Given the description of an element on the screen output the (x, y) to click on. 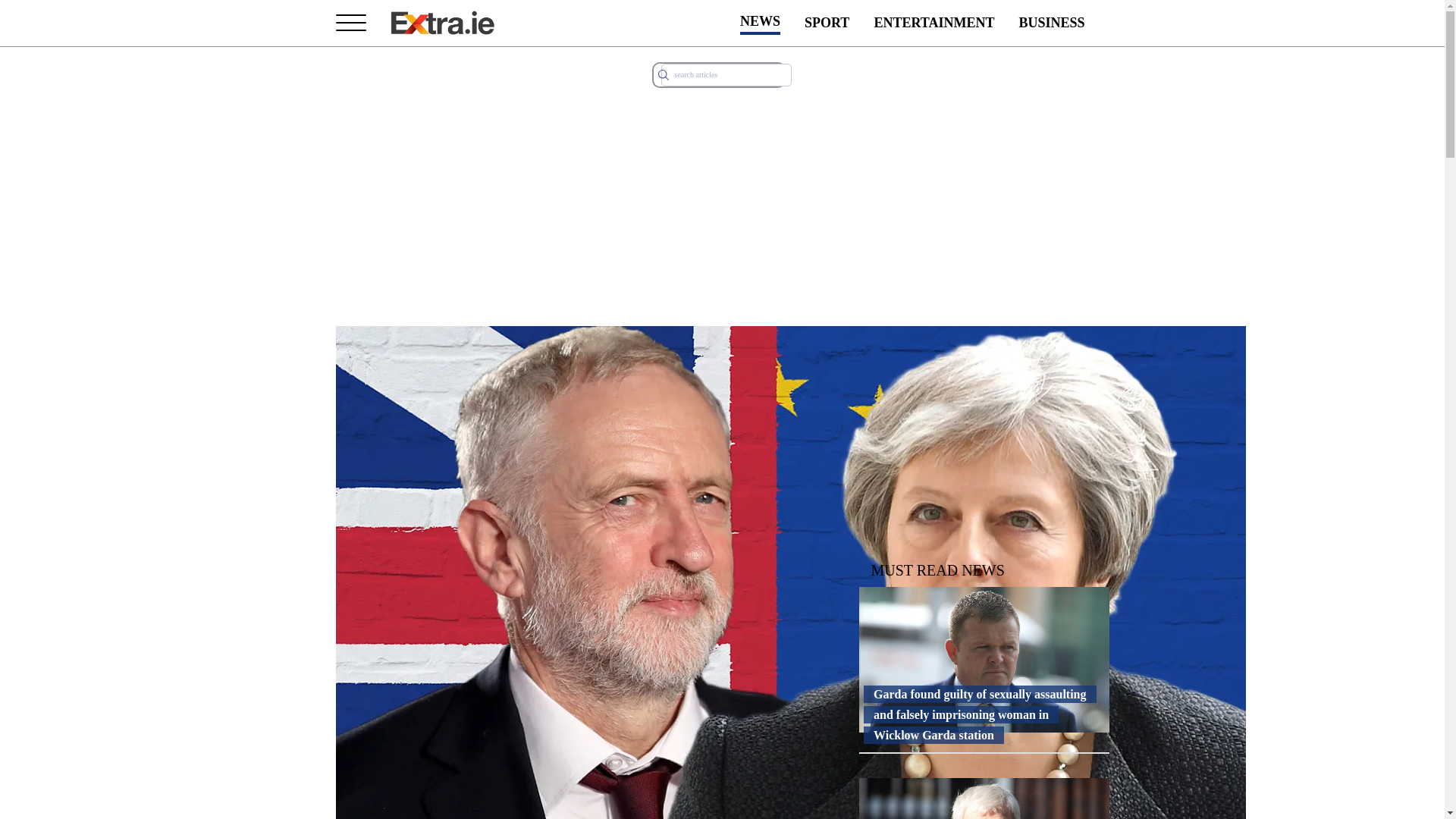
NEWS (759, 23)
ENTERTAINMENT (933, 23)
BUSINESS (1050, 23)
SPORT (826, 23)
Submit the search query (662, 73)
